Given the description of an element on the screen output the (x, y) to click on. 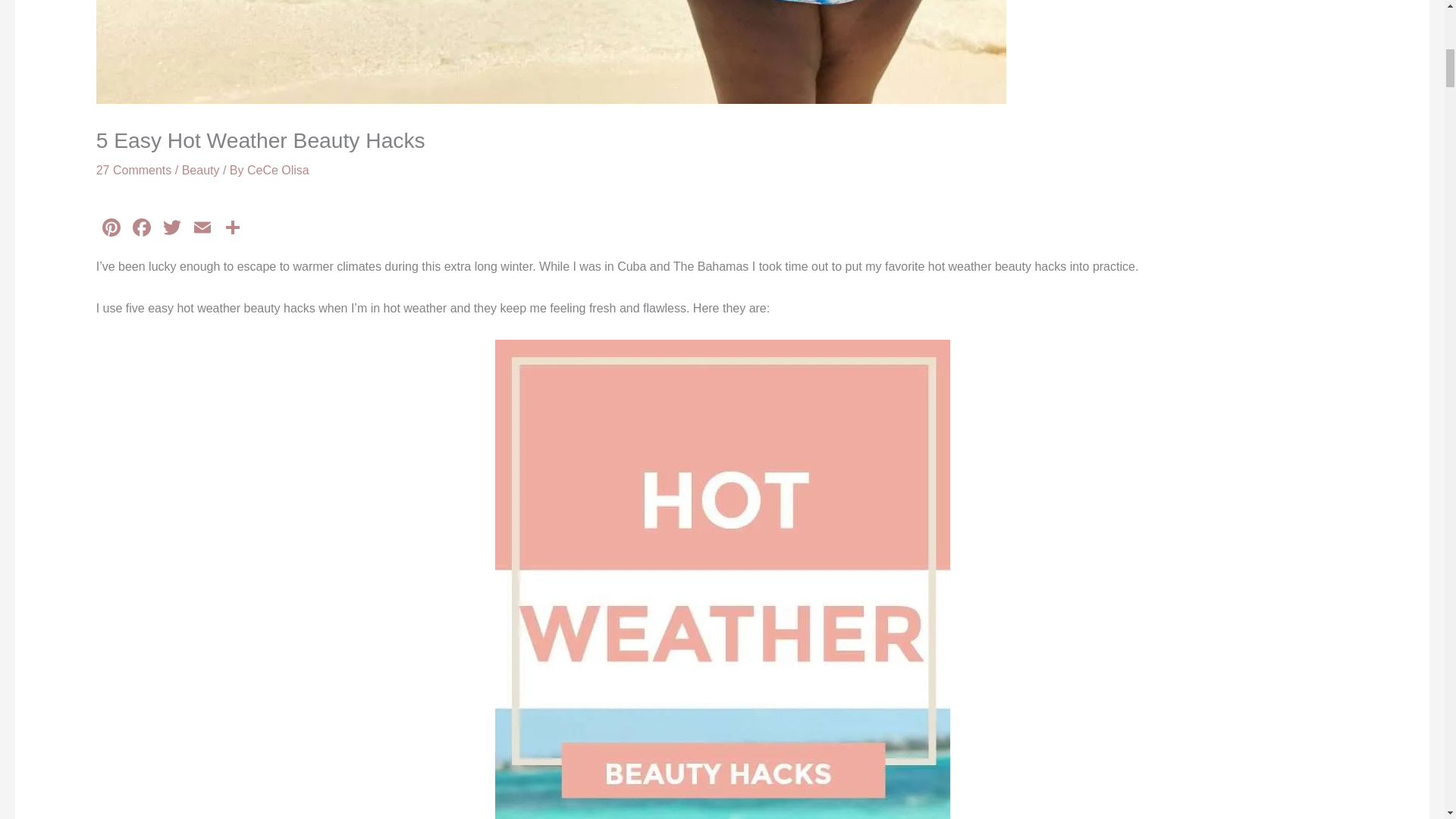
View all posts by CeCe Olisa (277, 169)
Twitter (172, 229)
Facebook (141, 229)
Pinterest (111, 229)
Email (201, 229)
